Given the description of an element on the screen output the (x, y) to click on. 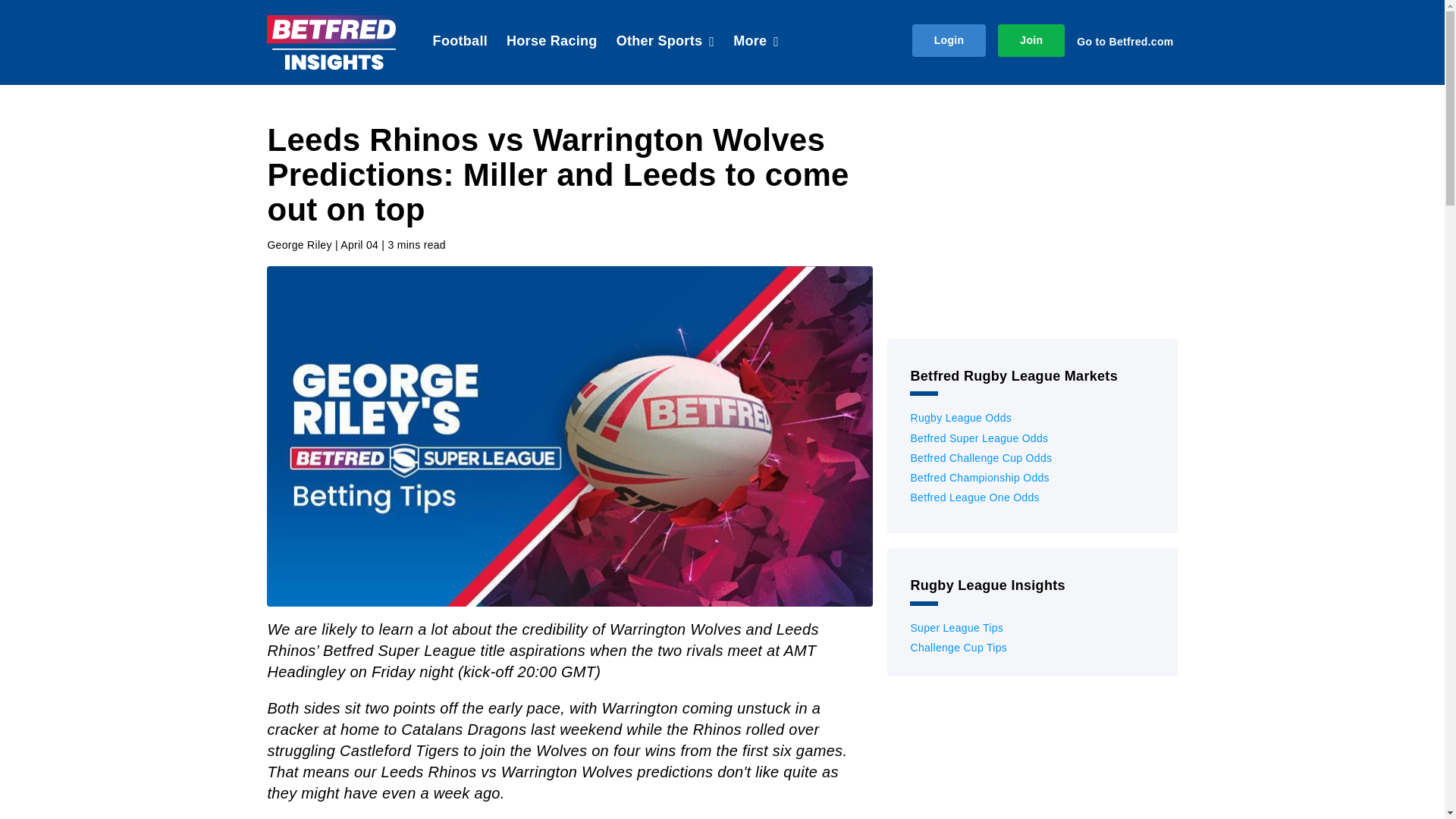
Login (949, 40)
Go to Betfred.com (1126, 41)
Horse Racing (551, 41)
betfred sponsorship rgb footer super league (1031, 222)
Other Sports (664, 41)
More (755, 41)
Football (459, 41)
Join (1030, 40)
Other Sports (664, 41)
